Given the description of an element on the screen output the (x, y) to click on. 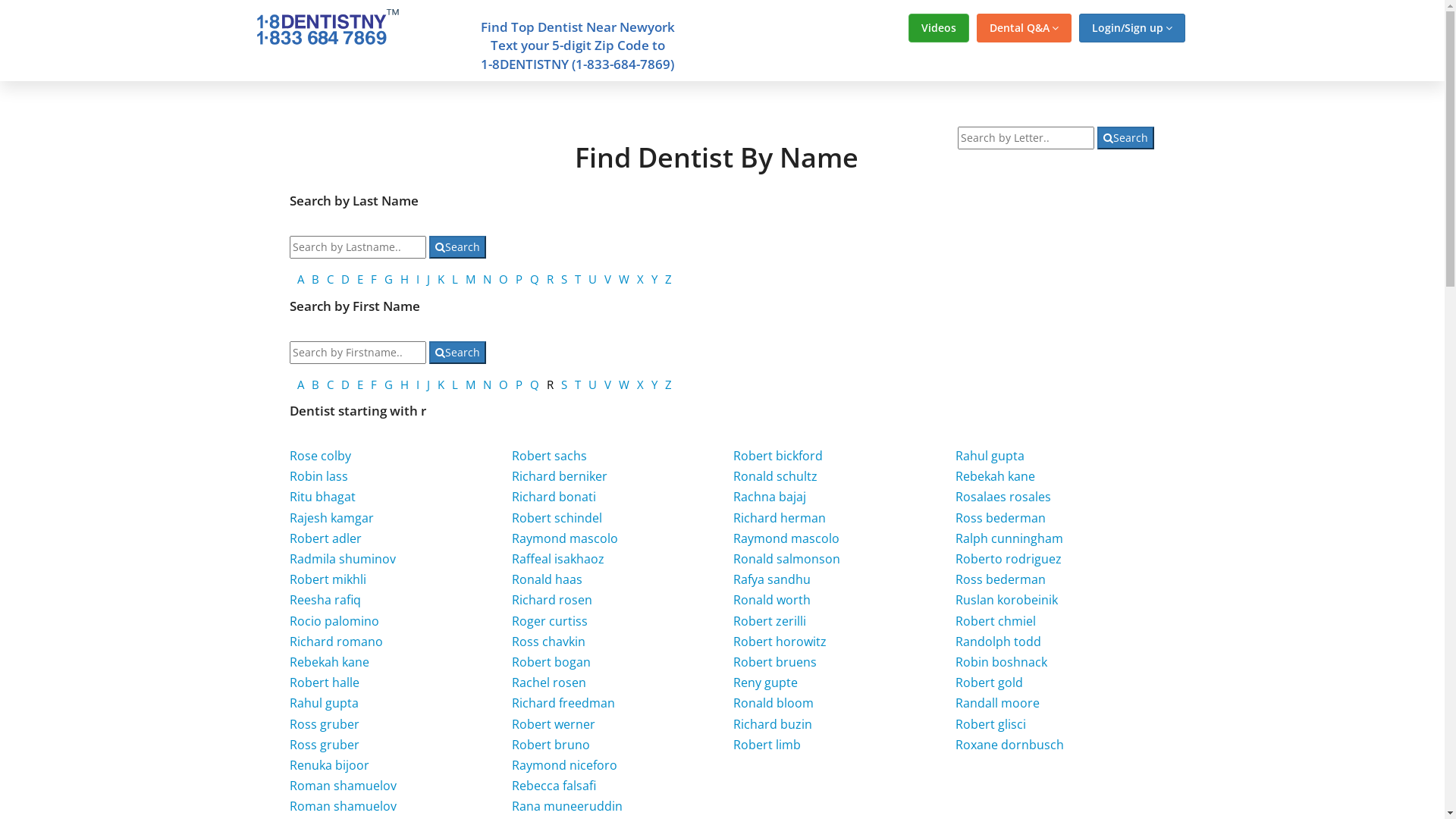
Robert bruens Element type: text (774, 661)
Ralph cunningham Element type: text (1009, 538)
Raymond mascolo Element type: text (786, 538)
Robert adler Element type: text (325, 538)
W Element type: text (623, 384)
Rafya sandhu Element type: text (771, 579)
E Element type: text (360, 278)
Rajesh kamgar Element type: text (331, 517)
Rebecca falsafi Element type: text (553, 785)
K Element type: text (440, 384)
G Element type: text (388, 384)
G Element type: text (388, 278)
L Element type: text (454, 384)
D Element type: text (345, 278)
A Element type: text (300, 278)
V Element type: text (607, 384)
Reny gupte Element type: text (765, 682)
Robin boshnack Element type: text (1001, 661)
Ritu bhagat Element type: text (322, 496)
M Element type: text (470, 278)
Richard bonati Element type: text (553, 496)
Robert mikhli Element type: text (327, 579)
Ronald schultz Element type: text (775, 475)
O Element type: text (503, 278)
Robert bruno Element type: text (550, 744)
Randall moore Element type: text (997, 702)
H Element type: text (404, 278)
Rebekah kane Element type: text (329, 661)
Ruslan korobeinik Element type: text (1006, 599)
H Element type: text (404, 384)
U Element type: text (592, 278)
Robert schindel Element type: text (556, 517)
S Element type: text (564, 384)
Dental Q&A Element type: text (1023, 27)
Robert bickford Element type: text (777, 455)
Raymond niceforo Element type: text (564, 764)
P Element type: text (518, 384)
Richard buzin Element type: text (772, 723)
Rachna bajaj Element type: text (769, 496)
Robert bogan Element type: text (550, 661)
Rebekah kane Element type: text (995, 475)
Rocio palomino Element type: text (334, 620)
Rose colby Element type: text (320, 455)
I Element type: text (417, 278)
Ross chavkin Element type: text (548, 641)
Search Element type: text (457, 246)
J Element type: text (427, 278)
Y Element type: text (654, 278)
S Element type: text (564, 278)
Robert sachs Element type: text (548, 455)
T Element type: text (577, 278)
Roman shamuelov Element type: text (342, 785)
D Element type: text (345, 384)
F Element type: text (373, 278)
Robert zerilli Element type: text (769, 620)
T Element type: text (577, 384)
Rachel rosen Element type: text (548, 682)
I Element type: text (417, 384)
K Element type: text (440, 278)
Ross bederman Element type: text (1000, 517)
E Element type: text (360, 384)
Robert gold Element type: text (988, 682)
C Element type: text (329, 384)
Robert chmiel Element type: text (995, 620)
Search Element type: text (1125, 137)
Q Element type: text (534, 278)
J Element type: text (427, 384)
M Element type: text (470, 384)
A Element type: text (300, 384)
Raffeal isakhaoz Element type: text (557, 558)
Richard berniker Element type: text (559, 475)
Ross gruber Element type: text (324, 723)
Roxane dornbusch Element type: text (1009, 744)
Ronald worth Element type: text (771, 599)
Search Element type: text (457, 352)
X Element type: text (640, 278)
Rahul gupta Element type: text (989, 455)
Roman shamuelov Element type: text (342, 805)
Ronald salmonson Element type: text (786, 558)
Y Element type: text (654, 384)
Richard herman Element type: text (779, 517)
W Element type: text (623, 278)
Raymond mascolo Element type: text (564, 538)
C Element type: text (329, 278)
X Element type: text (640, 384)
O Element type: text (503, 384)
Rana muneeruddin Element type: text (566, 805)
Radmila shuminov Element type: text (342, 558)
Richard freedman Element type: text (563, 702)
Robert werner Element type: text (553, 723)
F Element type: text (373, 384)
Roberto rodriguez Element type: text (1008, 558)
Z Element type: text (668, 278)
R Element type: text (549, 278)
U Element type: text (592, 384)
Renuka bijoor Element type: text (329, 764)
B Element type: text (315, 384)
Q Element type: text (534, 384)
Roger curtiss Element type: text (549, 620)
Ross bederman Element type: text (1000, 579)
Randolph todd Element type: text (998, 641)
Robert limb Element type: text (766, 744)
V Element type: text (607, 278)
Z Element type: text (668, 384)
Robert glisci Element type: text (990, 723)
Ronald bloom Element type: text (773, 702)
Videos Element type: text (938, 27)
Rahul gupta Element type: text (323, 702)
P Element type: text (518, 278)
N Element type: text (487, 278)
Richard romano Element type: text (335, 641)
N Element type: text (487, 384)
Login/Sign up Element type: text (1131, 27)
Richard rosen Element type: text (551, 599)
Ross gruber Element type: text (324, 744)
Robin lass Element type: text (318, 475)
B Element type: text (315, 278)
L Element type: text (454, 278)
Ronald haas Element type: text (546, 579)
Robert halle Element type: text (324, 682)
Rosalaes rosales Element type: text (1003, 496)
Reesha rafiq Element type: text (324, 599)
Robert horowitz Element type: text (779, 641)
